Given the description of an element on the screen output the (x, y) to click on. 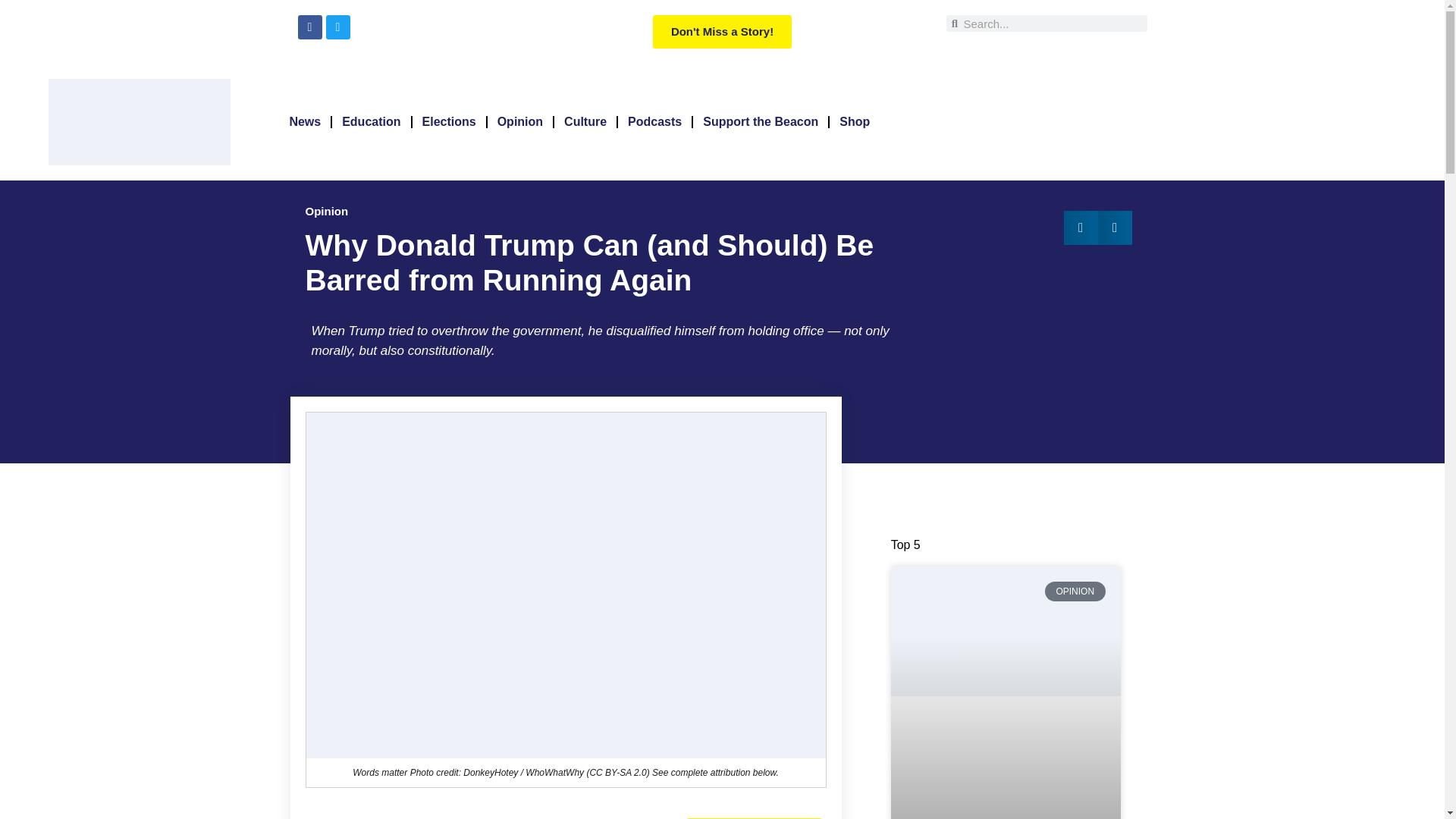
Culture (584, 121)
Education (370, 121)
Shop (854, 121)
Support the Beacon (760, 121)
Don't Miss a Story! (722, 31)
Elections (449, 121)
Opinion (520, 121)
Opinion (325, 210)
Podcasts (654, 121)
